Given the description of an element on the screen output the (x, y) to click on. 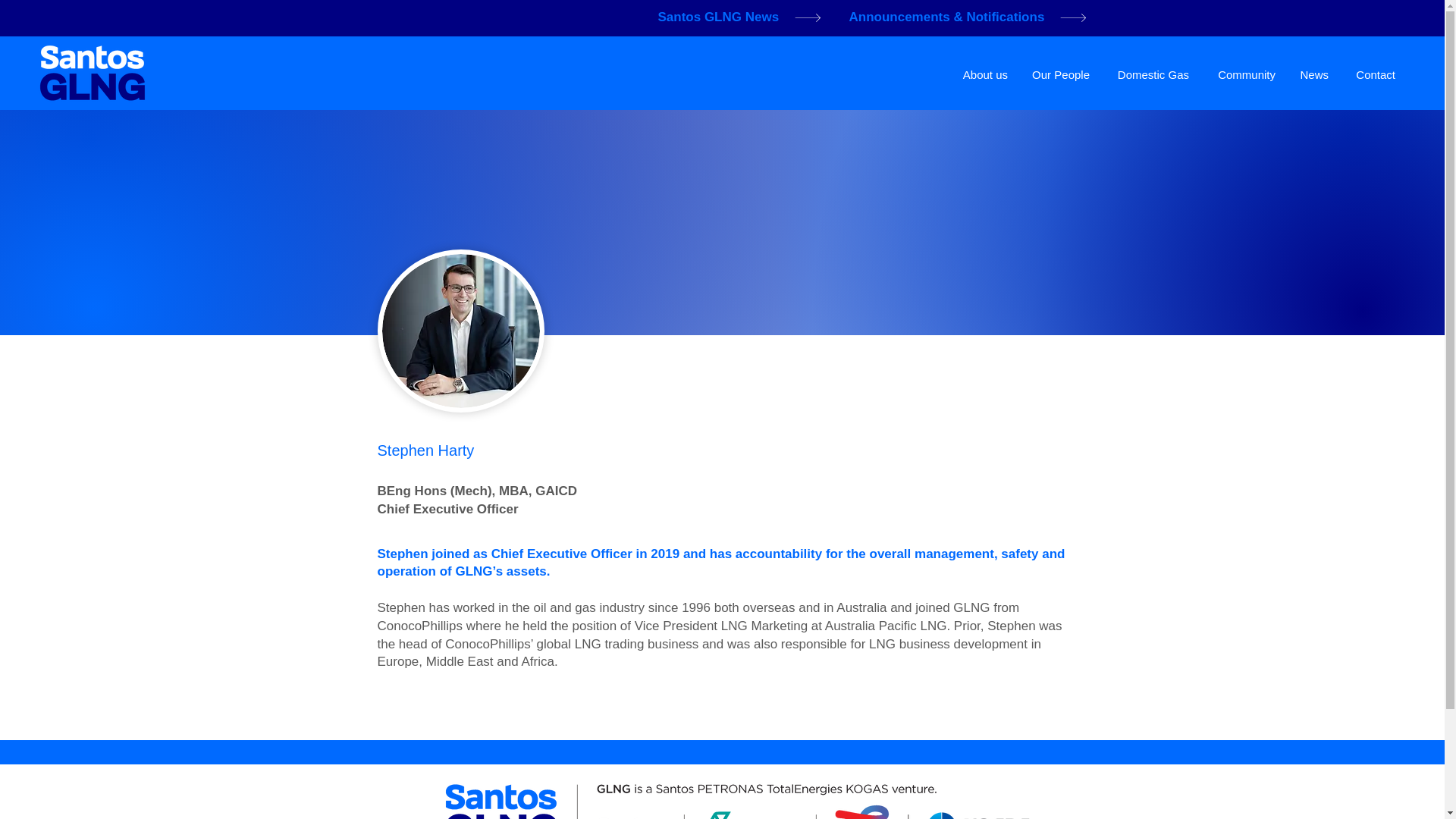
About us (984, 75)
Contact (1372, 75)
News (1313, 75)
Community (1243, 75)
Santos GLNG News (744, 17)
Our People (1059, 75)
